Given the description of an element on the screen output the (x, y) to click on. 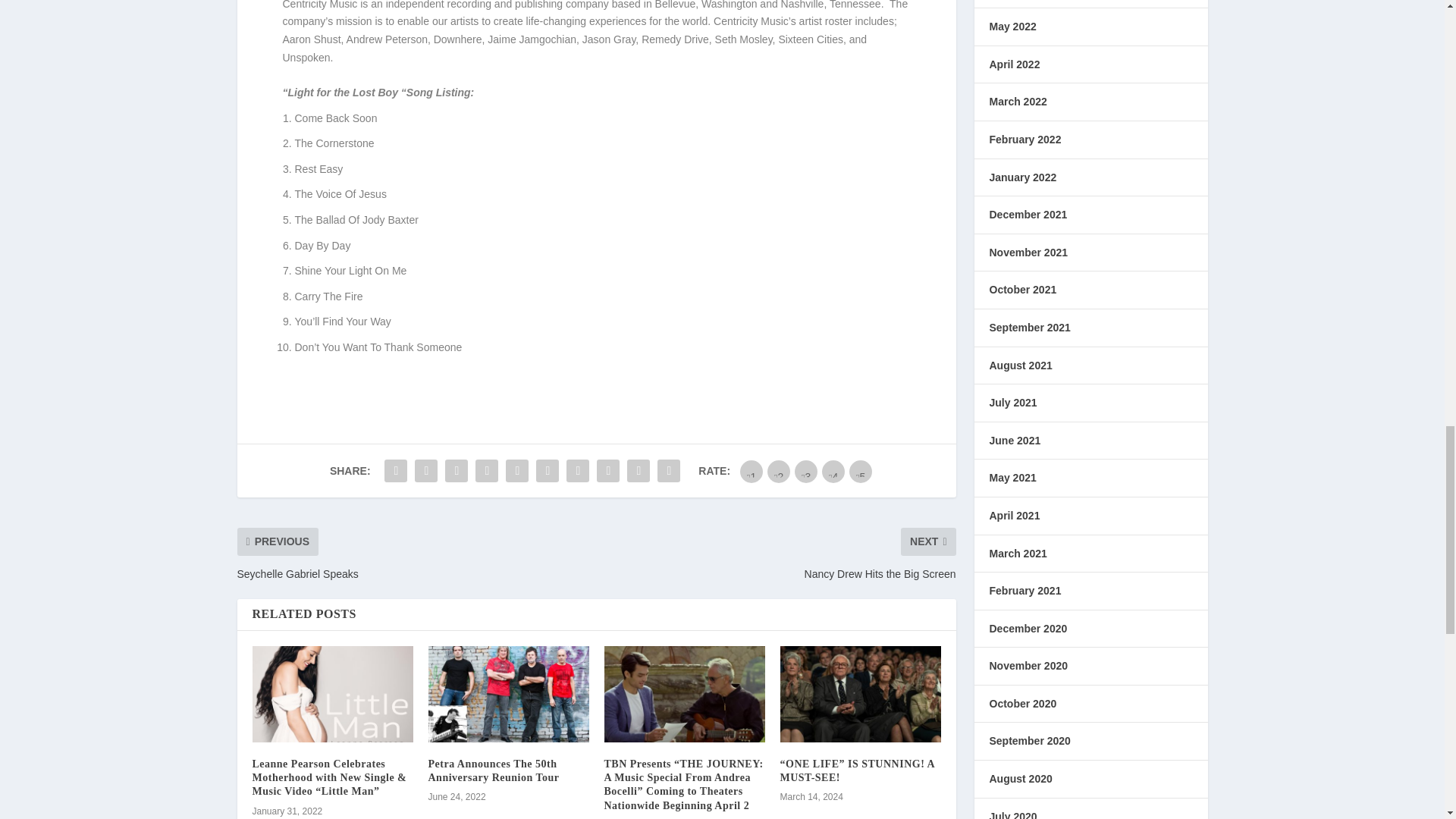
Share "Light for the Lost Boy" via Tumblr (486, 470)
Share "Light for the Lost Boy" via Twitter (425, 470)
Share "Light for the Lost Boy" via Facebook (395, 470)
Share "Light for the Lost Boy" via Pinterest (517, 470)
Share "Light for the Lost Boy" via LinkedIn (547, 470)
